Given the description of an element on the screen output the (x, y) to click on. 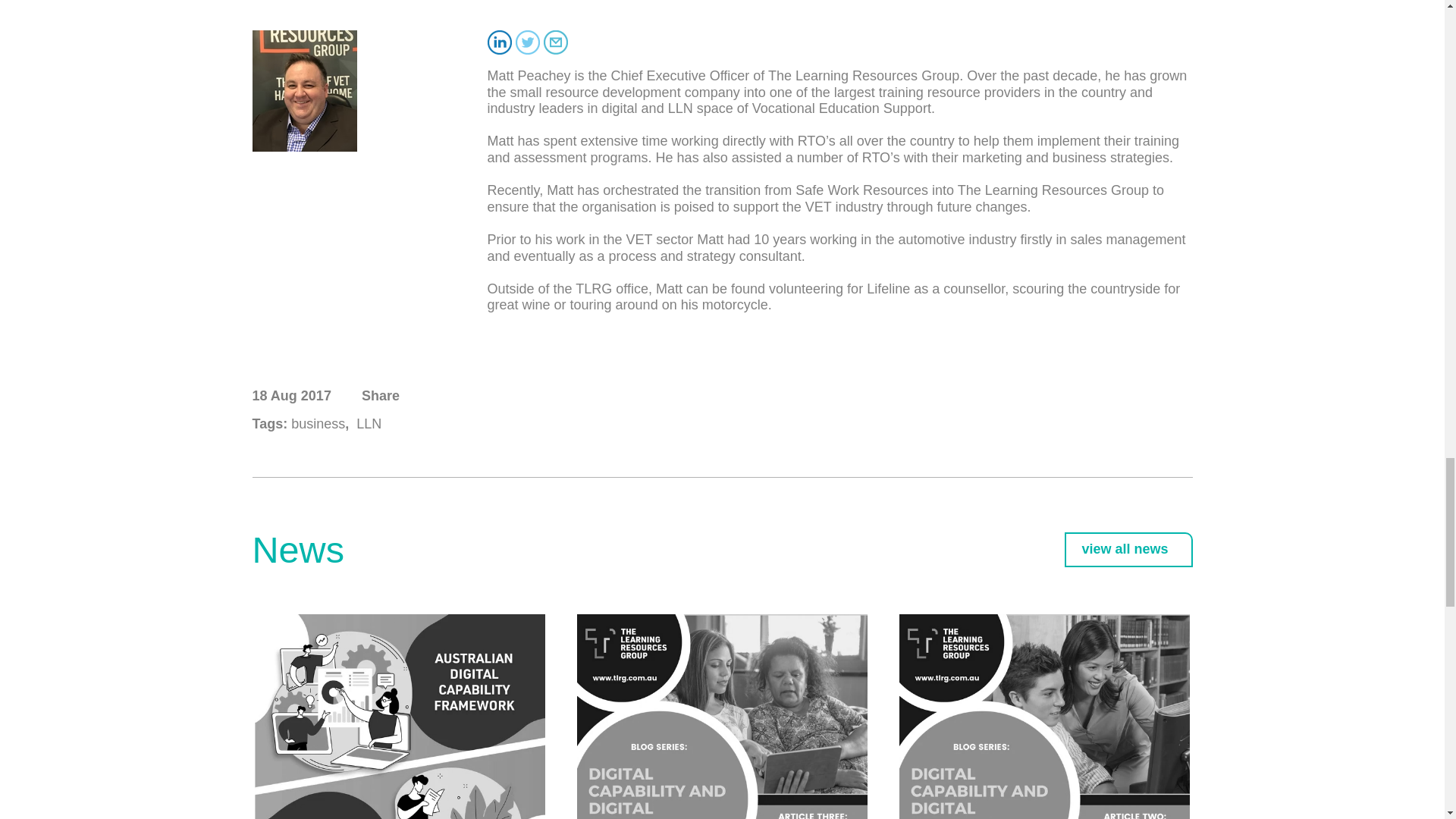
LLN (366, 424)
view all news (1128, 549)
business (315, 424)
